Given the description of an element on the screen output the (x, y) to click on. 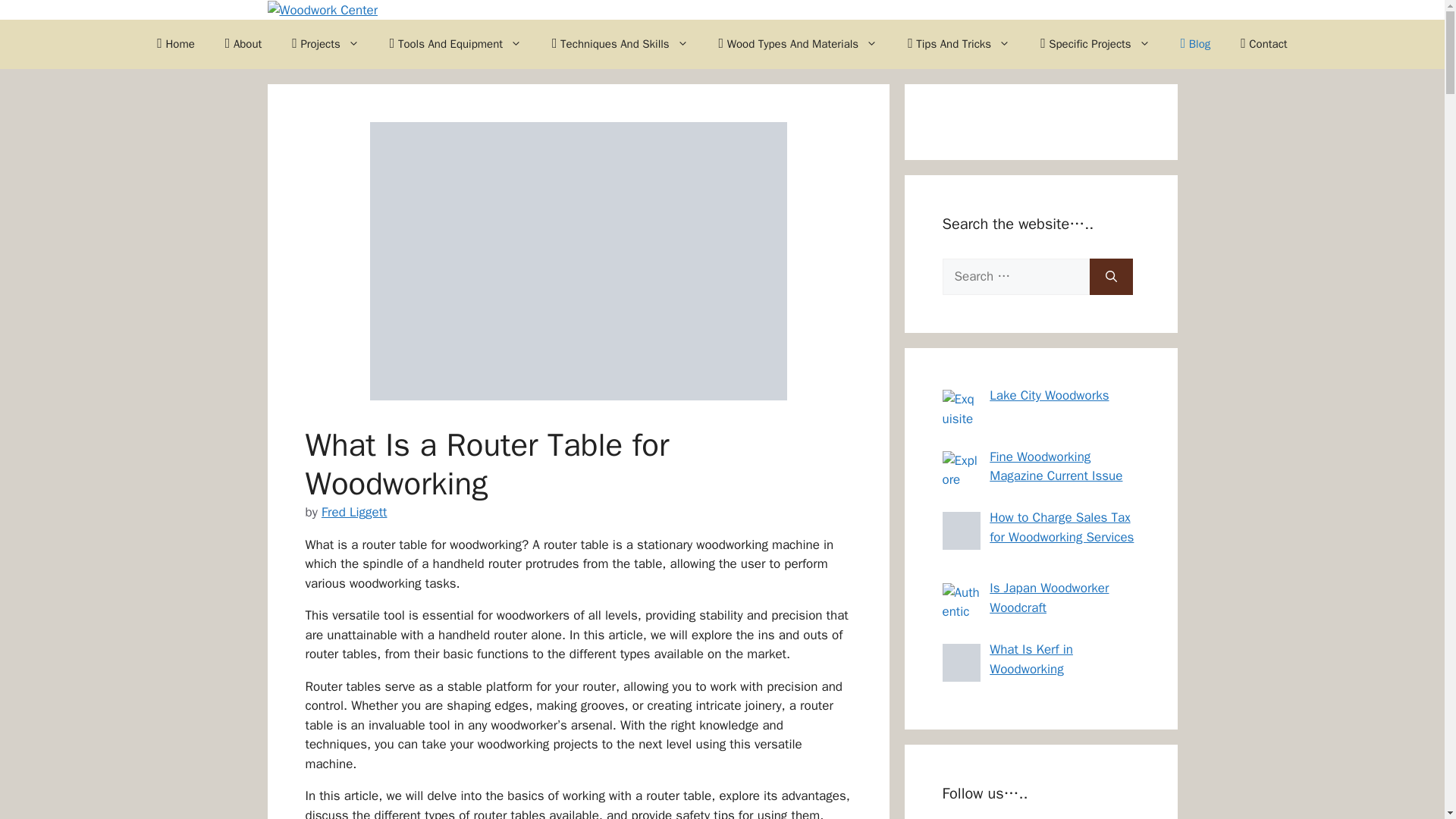
View all posts by Fred Liggett (354, 512)
What Is a Router Table for Woodworking 1 (578, 261)
